Given the description of an element on the screen output the (x, y) to click on. 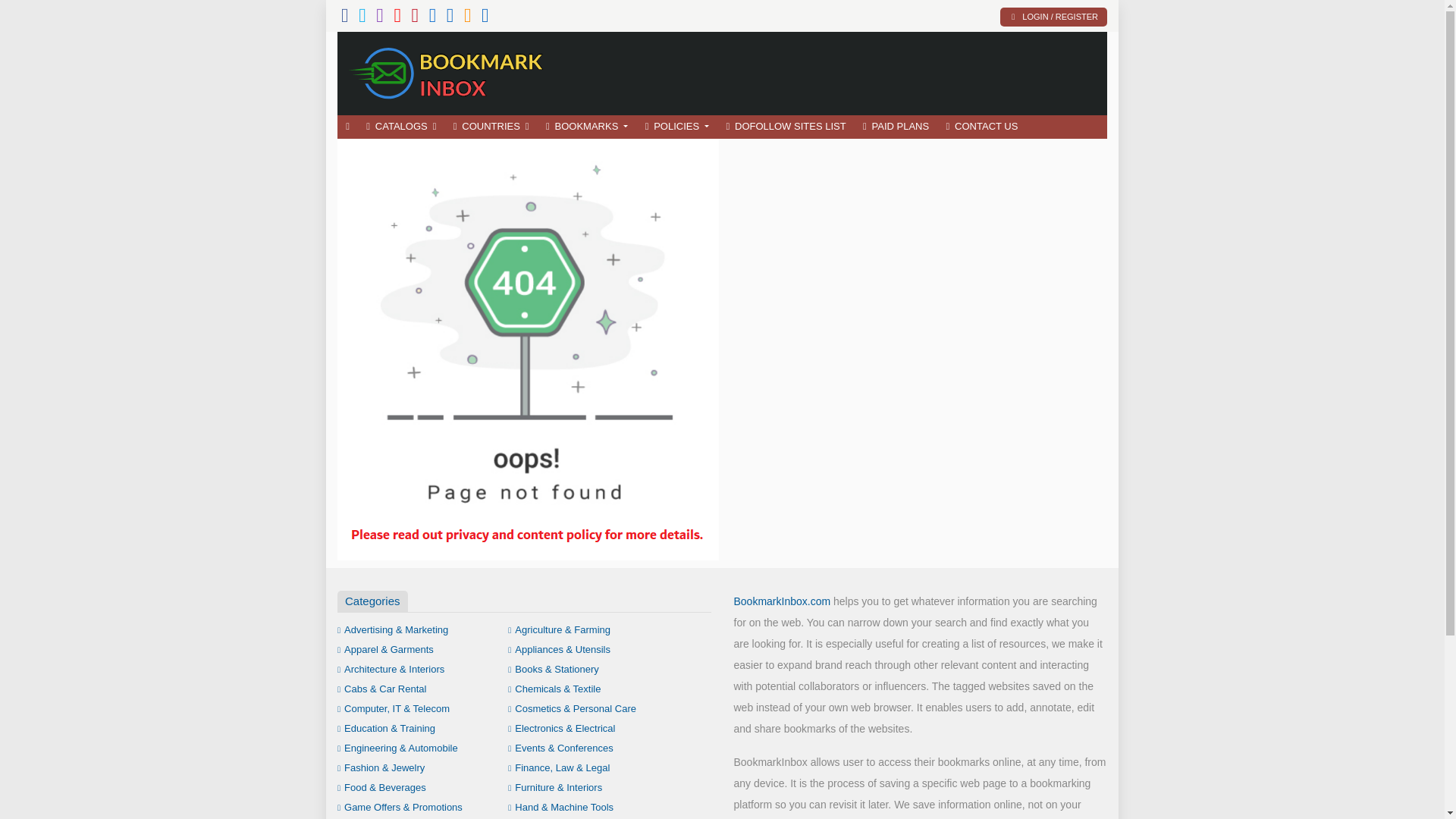
CATALOGS (401, 126)
Tag Your Business Website Using Advanced Social Platform (447, 71)
